Given the description of an element on the screen output the (x, y) to click on. 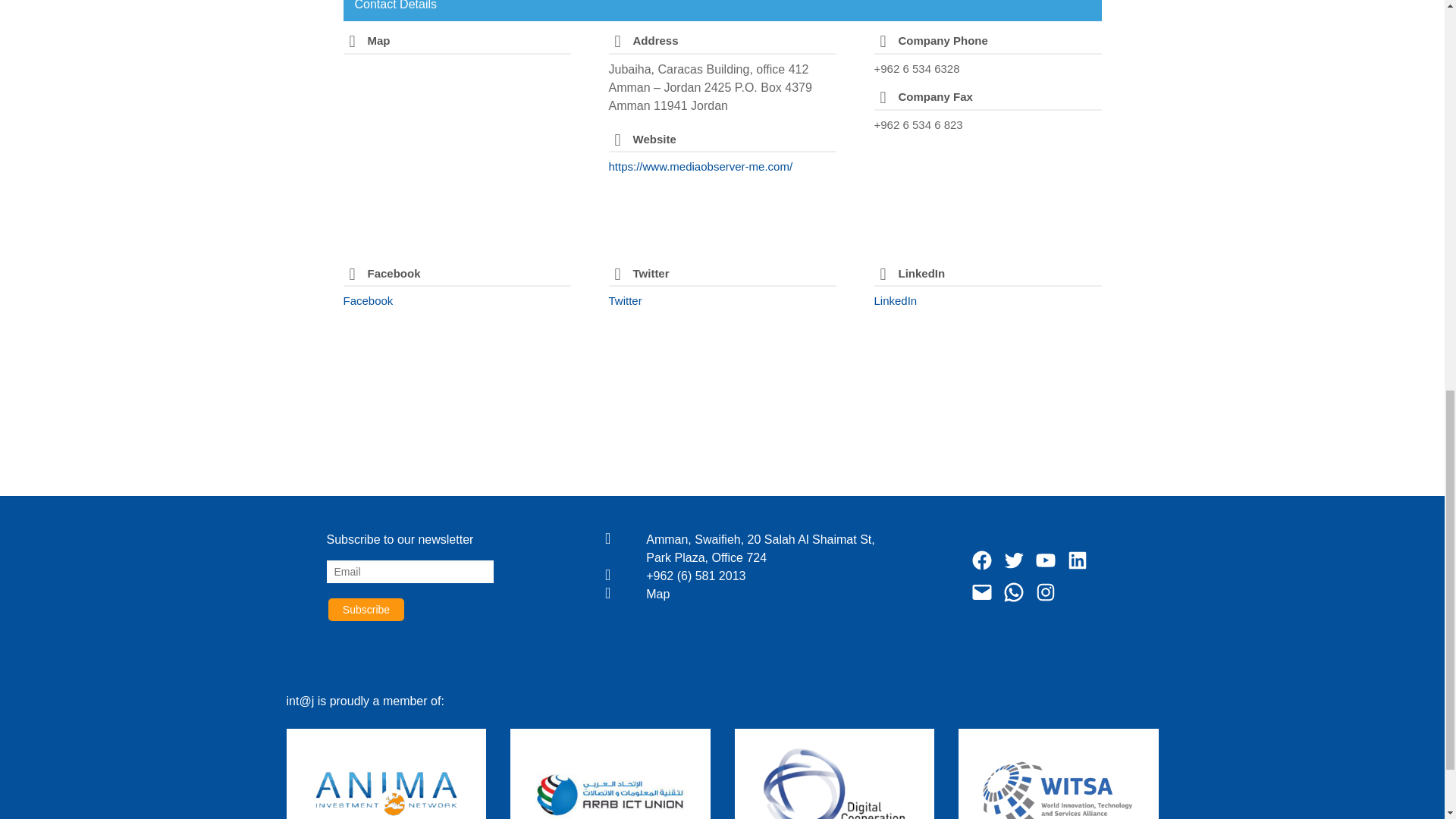
Facebook (367, 300)
Subscribe (366, 609)
Facebook (367, 300)
LinkedIn (895, 300)
Twitter (625, 300)
LinkedIn (895, 300)
Twitter (625, 300)
Map (769, 594)
